Given the description of an element on the screen output the (x, y) to click on. 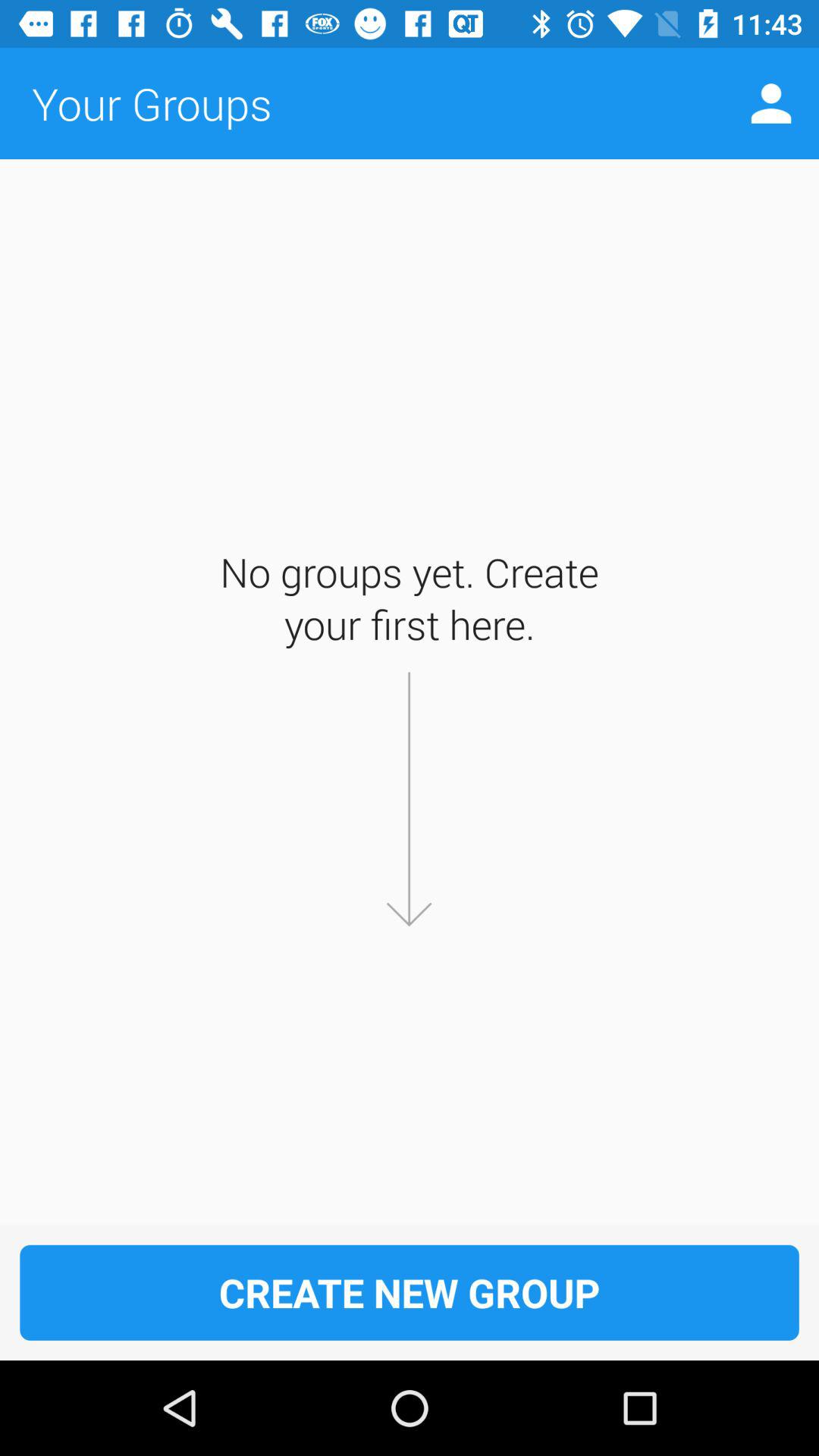
launch the icon above the create new group icon (771, 103)
